Given the description of an element on the screen output the (x, y) to click on. 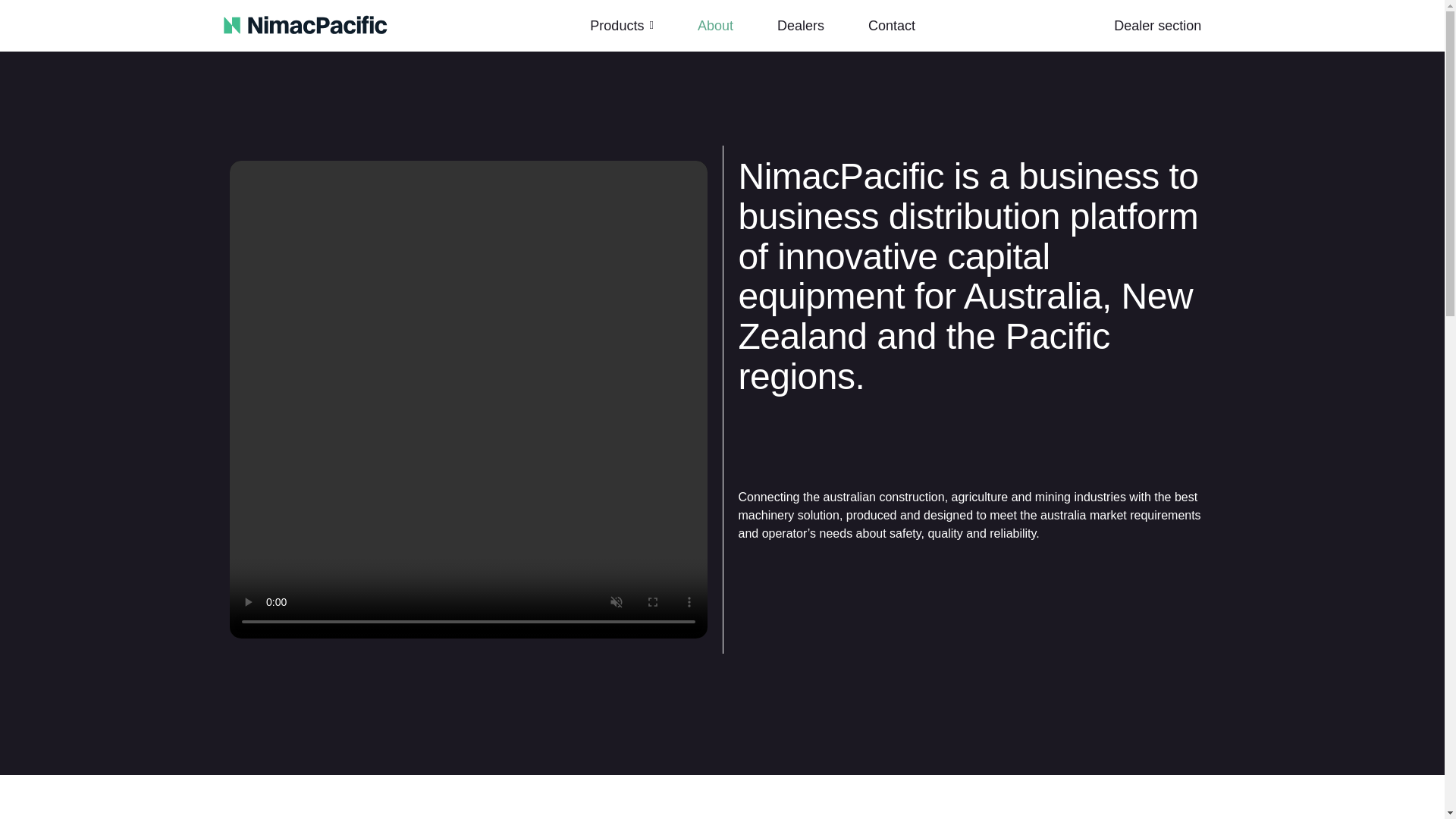
About (715, 25)
Products (621, 25)
Dealers (800, 25)
Contact (891, 25)
